Given the description of an element on the screen output the (x, y) to click on. 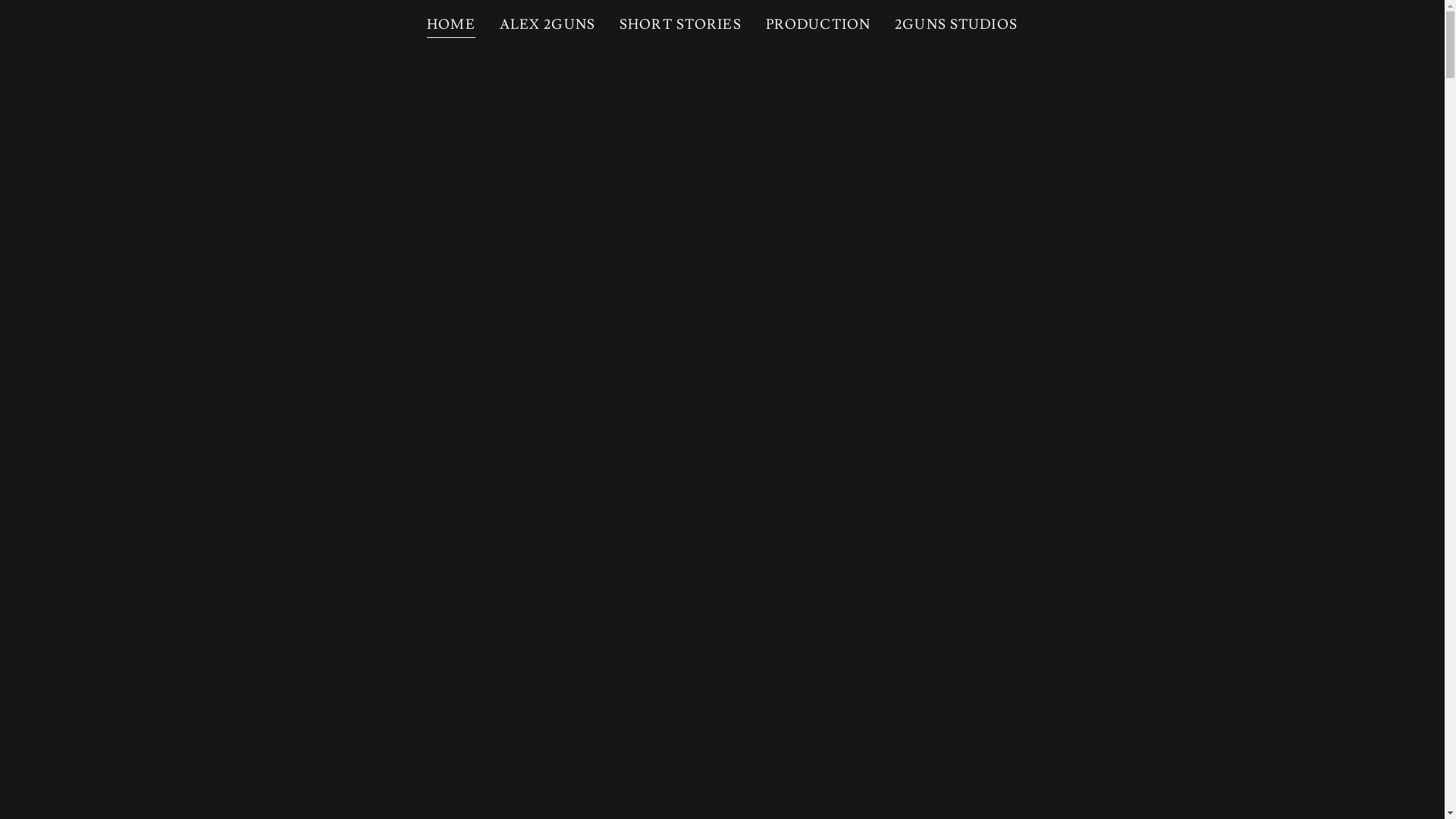
SHORT STORIES Element type: text (680, 24)
ALEX 2GUNS Element type: text (547, 24)
PRODUCTION Element type: text (818, 24)
HOME Element type: text (450, 26)
2GUNS STUDIOS Element type: text (956, 24)
